Given the description of an element on the screen output the (x, y) to click on. 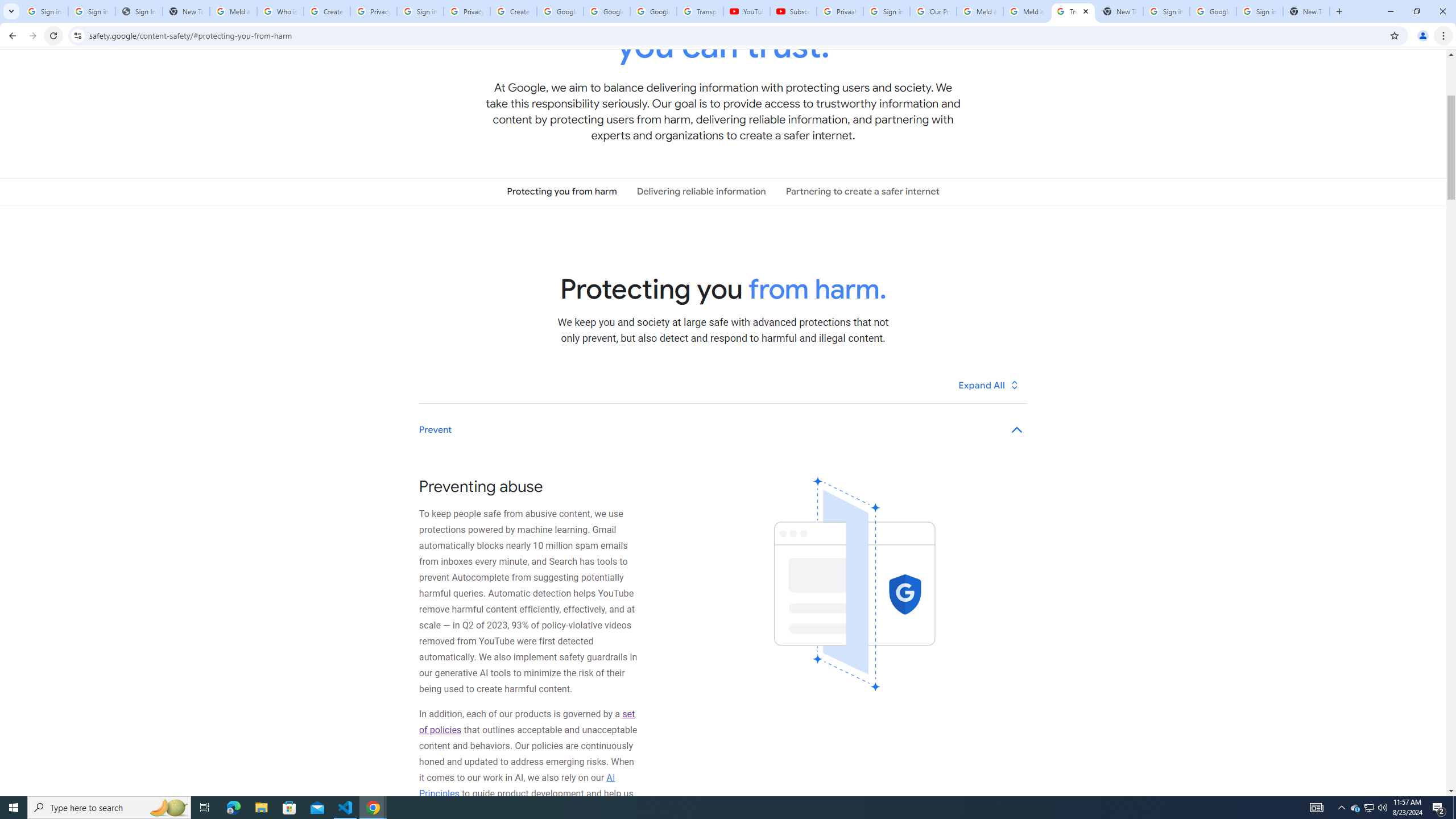
Sign in - Google Accounts (886, 11)
Expand All (988, 384)
Prevent (723, 429)
Google Account (652, 11)
Sign in - Google Accounts (419, 11)
Create your Google Account (326, 11)
